Given the description of an element on the screen output the (x, y) to click on. 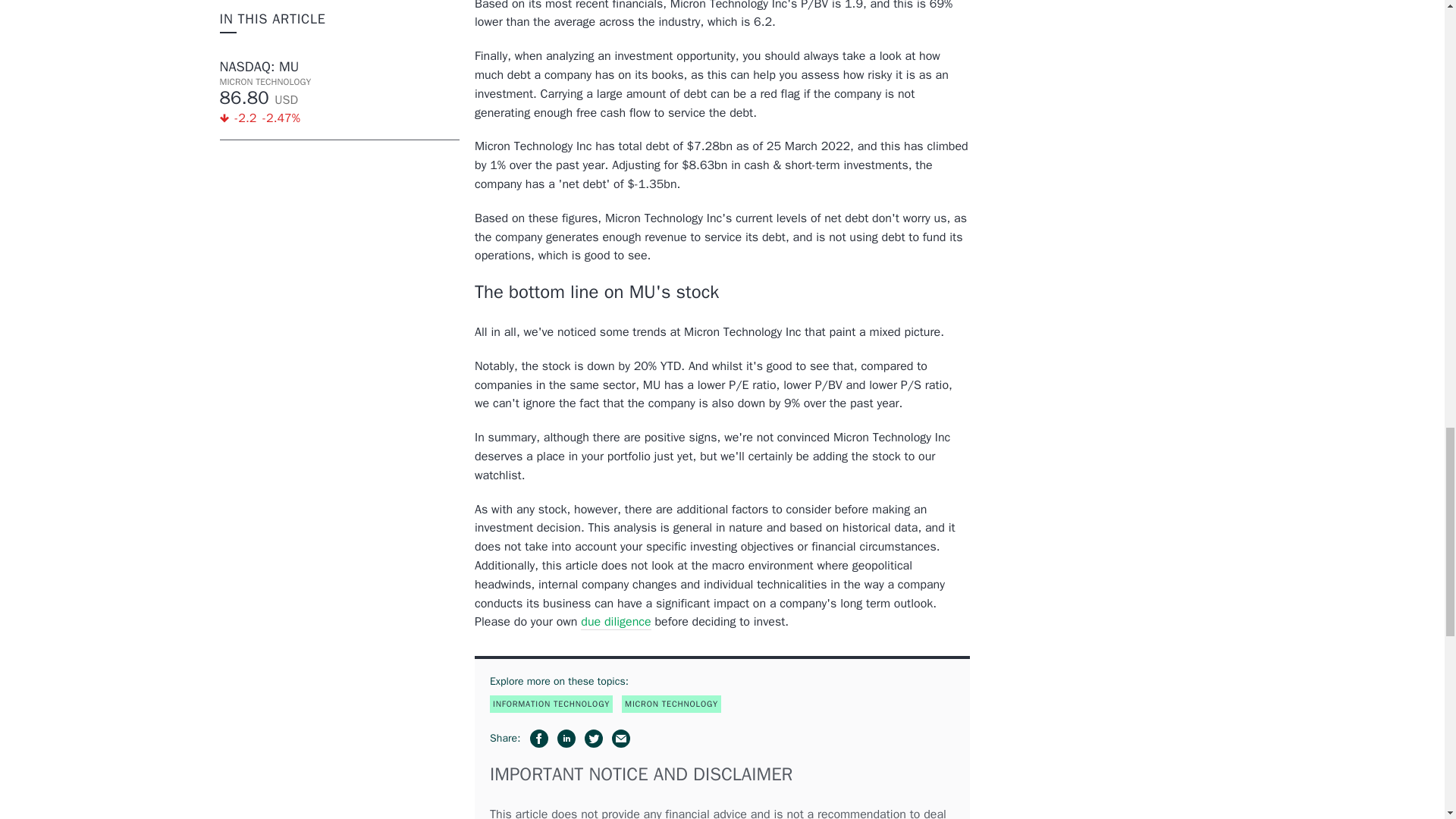
MICRON TECHNOLOGY (670, 703)
INFORMATION TECHNOLOGY (550, 703)
due diligence (615, 621)
